Given the description of an element on the screen output the (x, y) to click on. 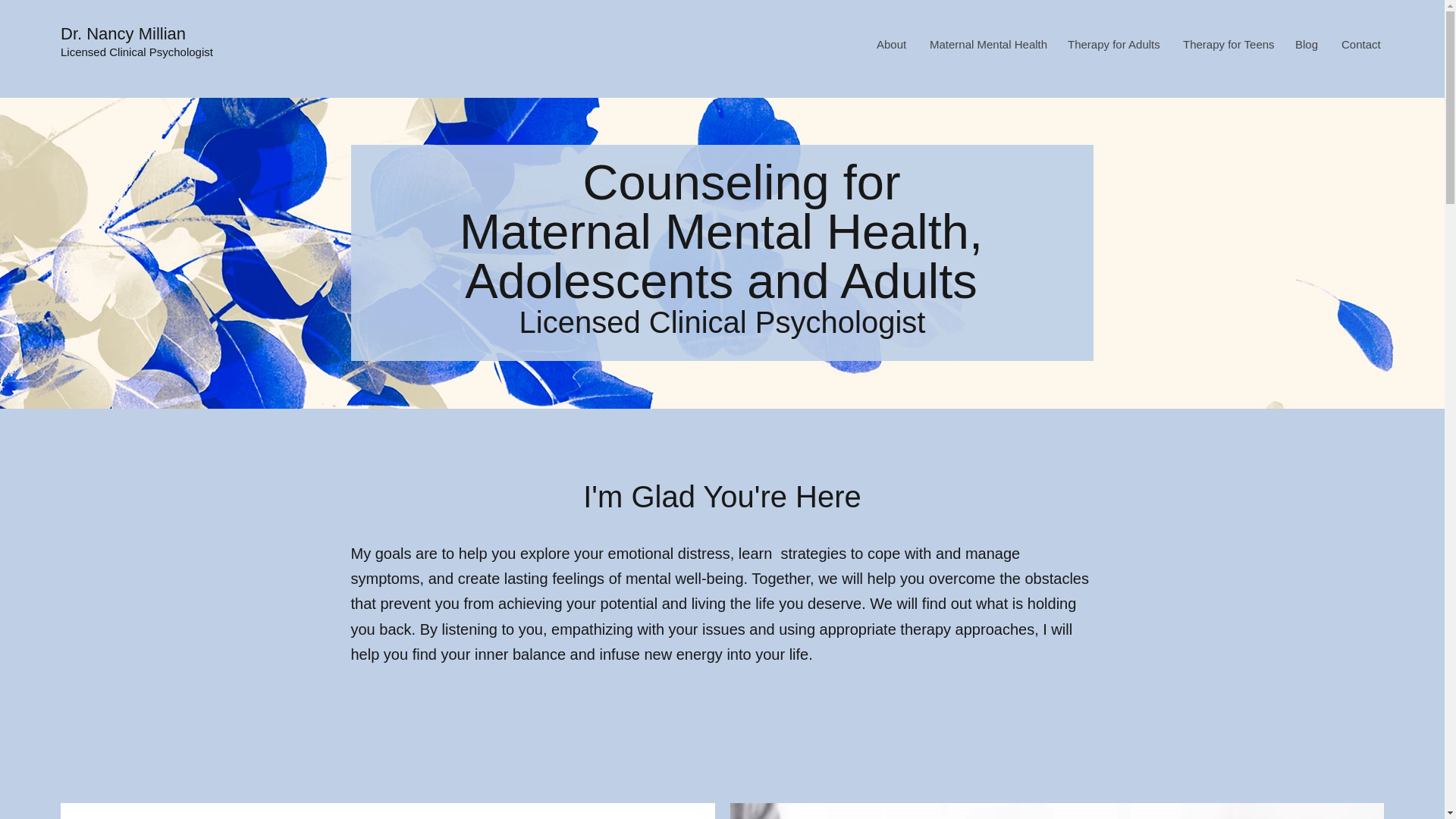
Contact (1360, 44)
Therapy for Adults (1112, 44)
Therapy for Teens (1226, 44)
Maternal Mental Health (986, 44)
Dr. Nancy Millian (123, 33)
About (890, 44)
Blog (1305, 44)
